Given the description of an element on the screen output the (x, y) to click on. 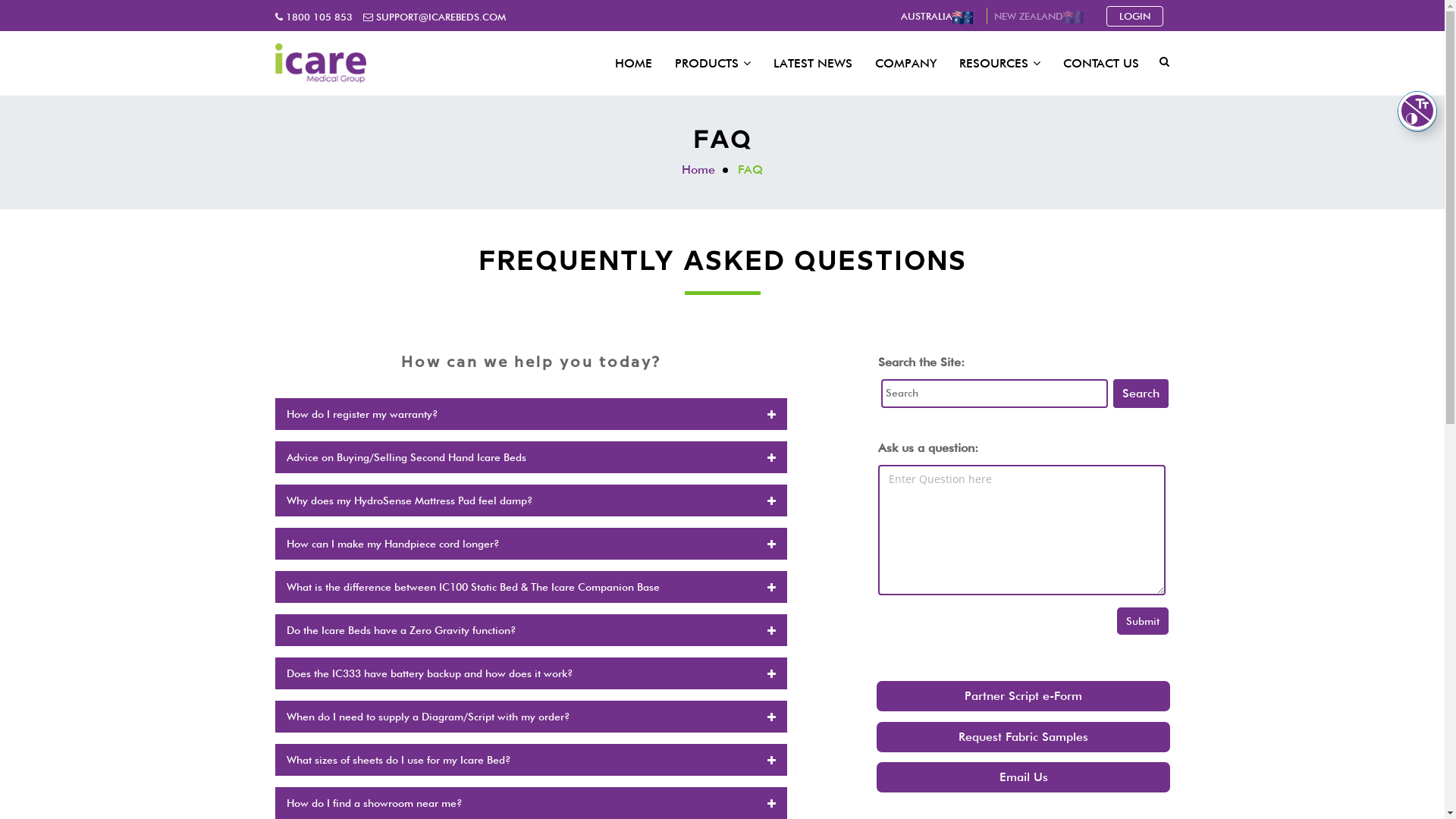
Home Element type: text (698, 169)
Partner Script e-Form Element type: text (1023, 695)
Does the IC333 have battery backup and how does it work? Element type: text (530, 673)
Search Element type: text (1140, 393)
RESOURCES Element type: text (999, 63)
Do the Icare Beds have a Zero Gravity function? Element type: text (530, 630)
How can I make my Handpiece cord longer? Element type: text (530, 543)
How do I register my warranty? Element type: text (530, 413)
NEW ZEALAND Element type: text (1041, 15)
LOGIN Element type: text (1133, 16)
Why does my HydroSense Mattress Pad feel damp? Element type: text (530, 500)
Submit Element type: text (1142, 620)
Search Element type: text (1129, 126)
When do I need to supply a Diagram/Script with my order? Element type: text (530, 716)
COMPANY Element type: text (905, 62)
Request Fabric Samples Element type: text (1023, 736)
1800 105 853 Element type: text (312, 16)
CONTACT US Element type: text (1095, 62)
Email Us Element type: text (1023, 777)
What sizes of sheets do I use for my Icare Bed? Element type: text (530, 759)
Advice on Buying/Selling Second Hand Icare Beds Element type: text (530, 457)
PRODUCTS Element type: text (712, 63)
SUPPORT@ICAREBEDS.COM Element type: text (433, 16)
LATEST NEWS Element type: text (812, 62)
HOME Element type: text (633, 62)
AUSTRALIA Element type: text (940, 15)
